Given the description of an element on the screen output the (x, y) to click on. 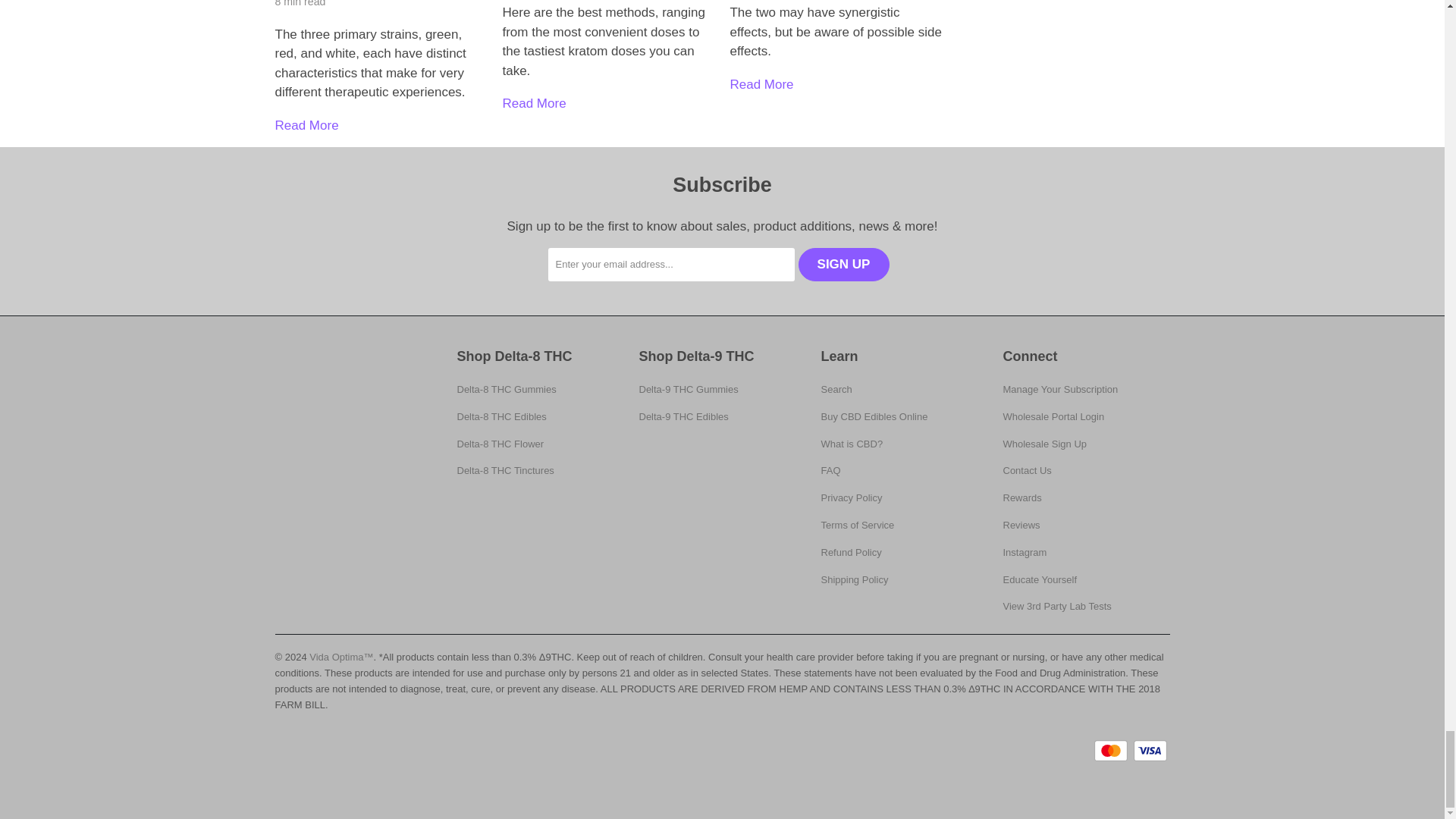
Sign Up (842, 264)
Visa (1150, 750)
Mastercard (1112, 750)
